Given the description of an element on the screen output the (x, y) to click on. 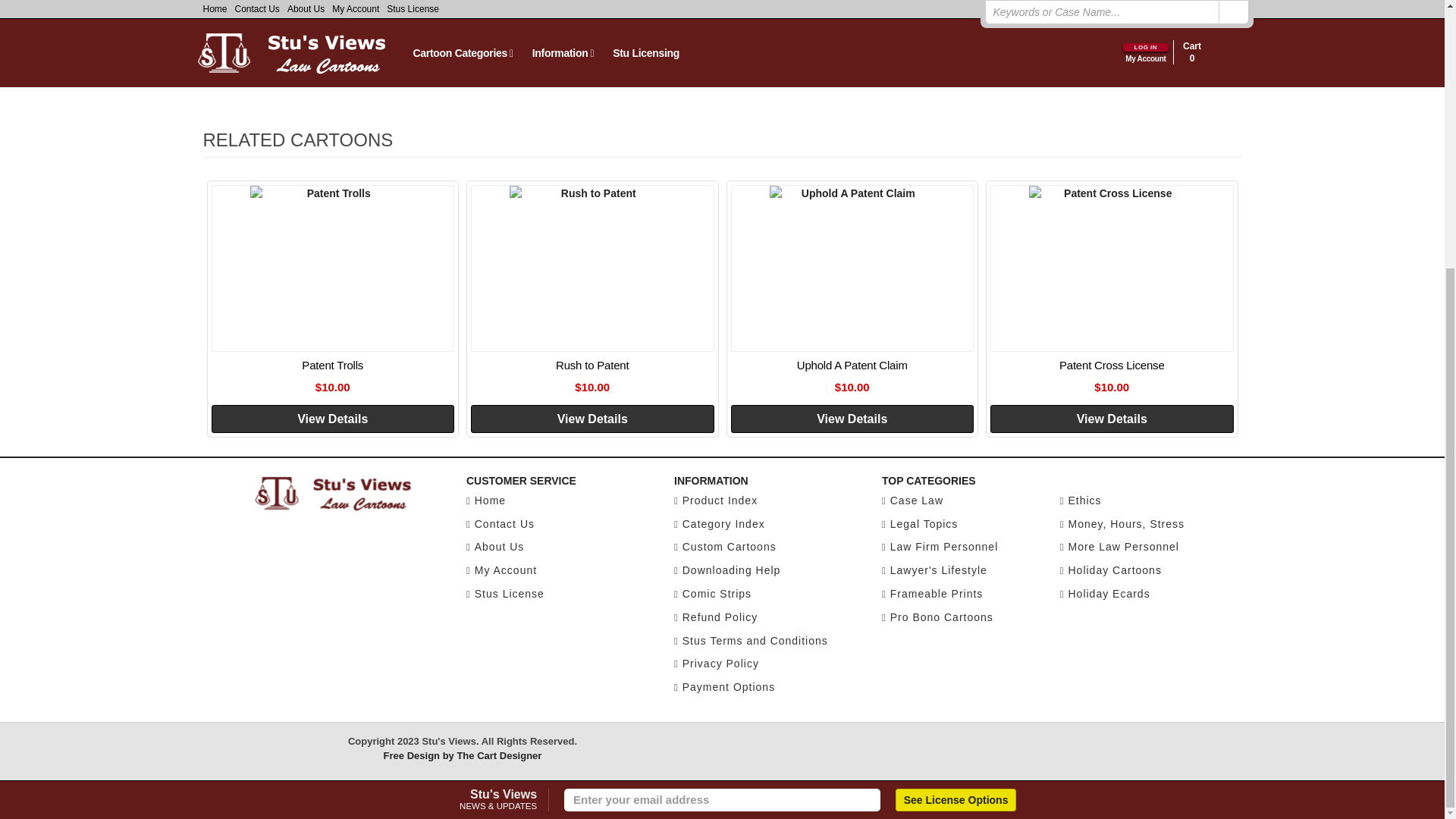
License Options (955, 408)
Patentable Cartoons  (445, 7)
Patentable Cartoons  (445, 36)
